Given the description of an element on the screen output the (x, y) to click on. 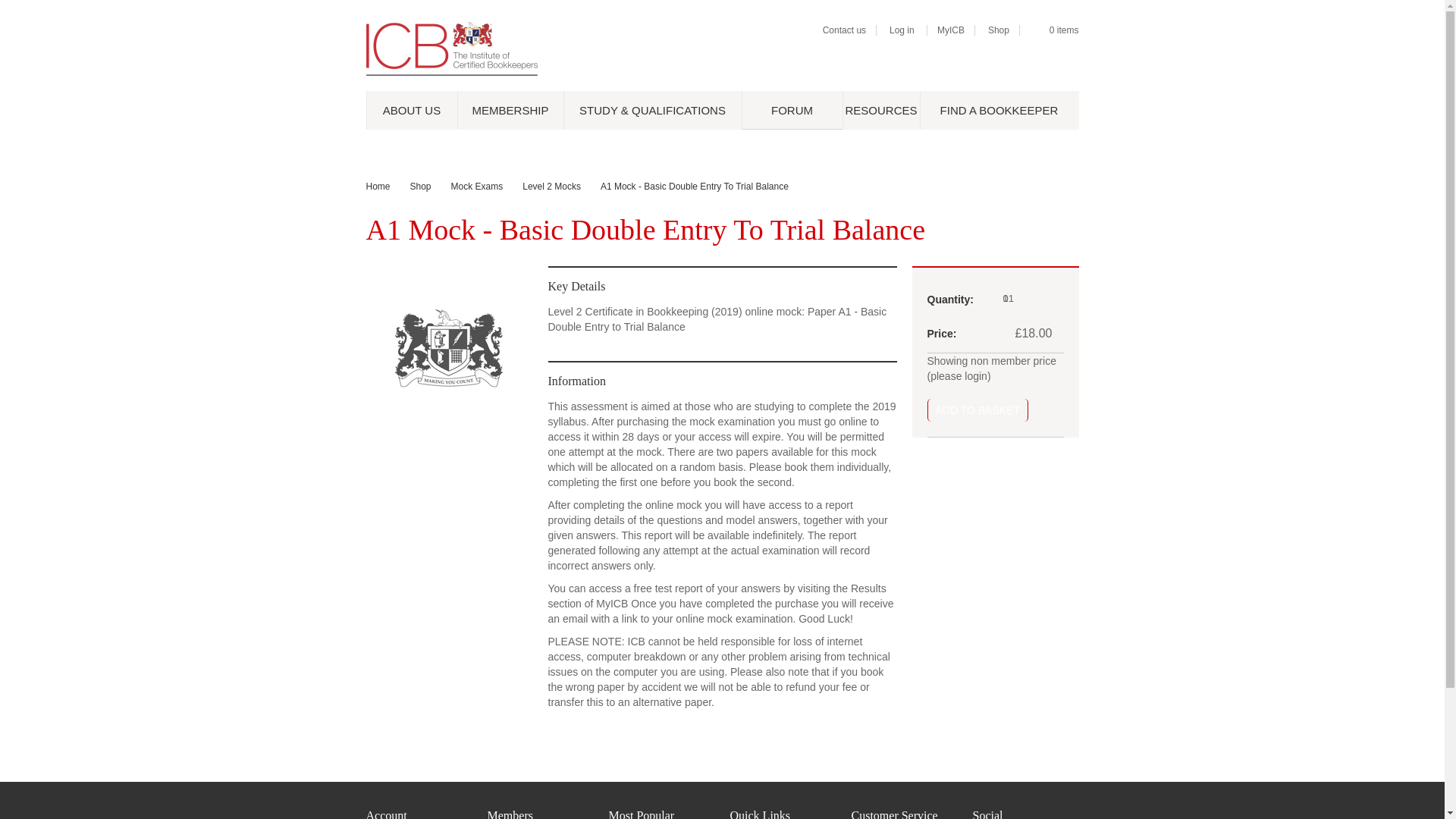
MEMBERSHIP (509, 109)
Log in (901, 30)
Shop (998, 30)
RESOURCES (879, 109)
FORUM (792, 109)
0 items (1063, 30)
Contact us (844, 30)
ABOUT US (411, 109)
MyICB (950, 30)
